Given the description of an element on the screen output the (x, y) to click on. 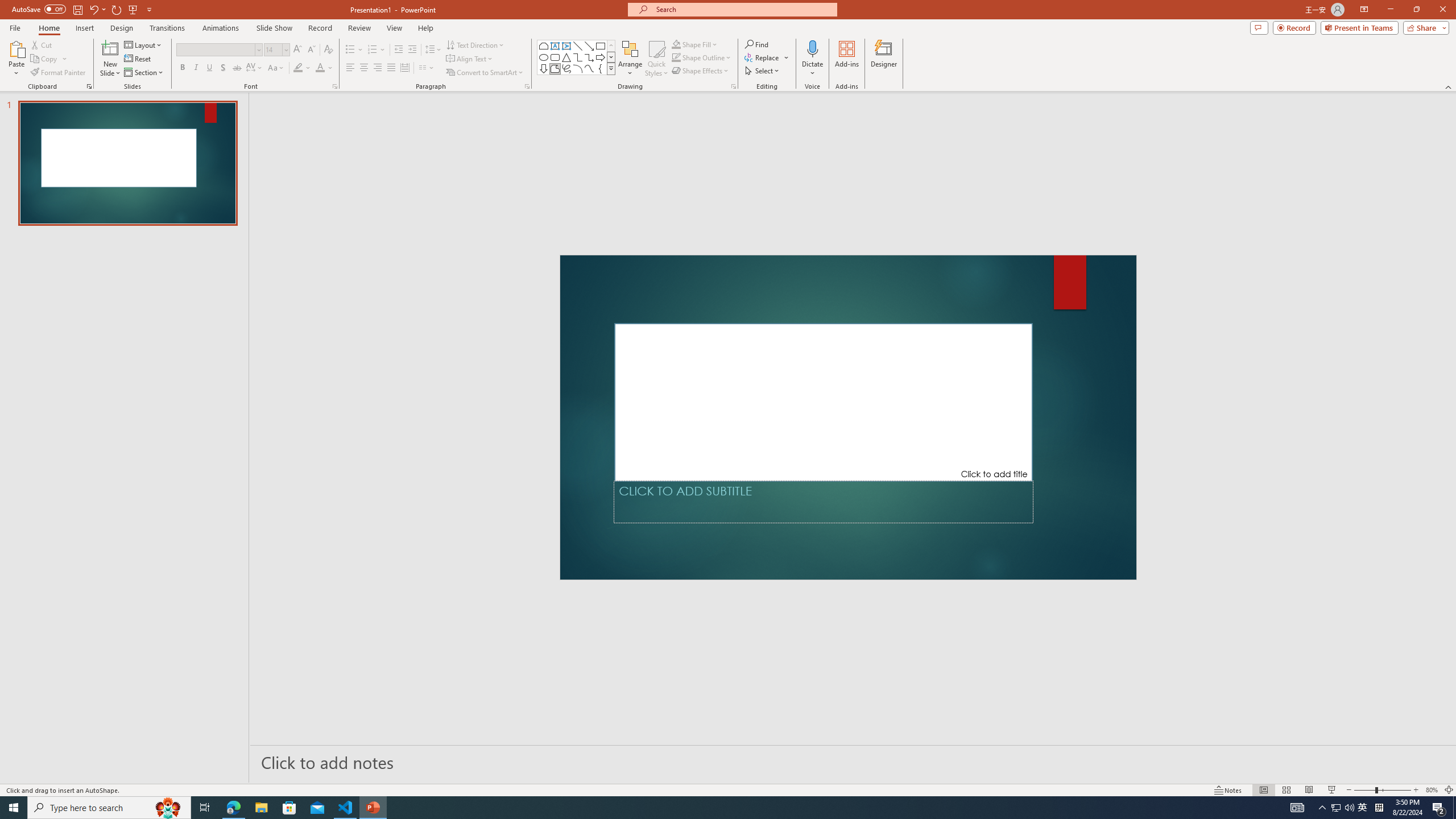
Row Down (611, 56)
